Given the description of an element on the screen output the (x, y) to click on. 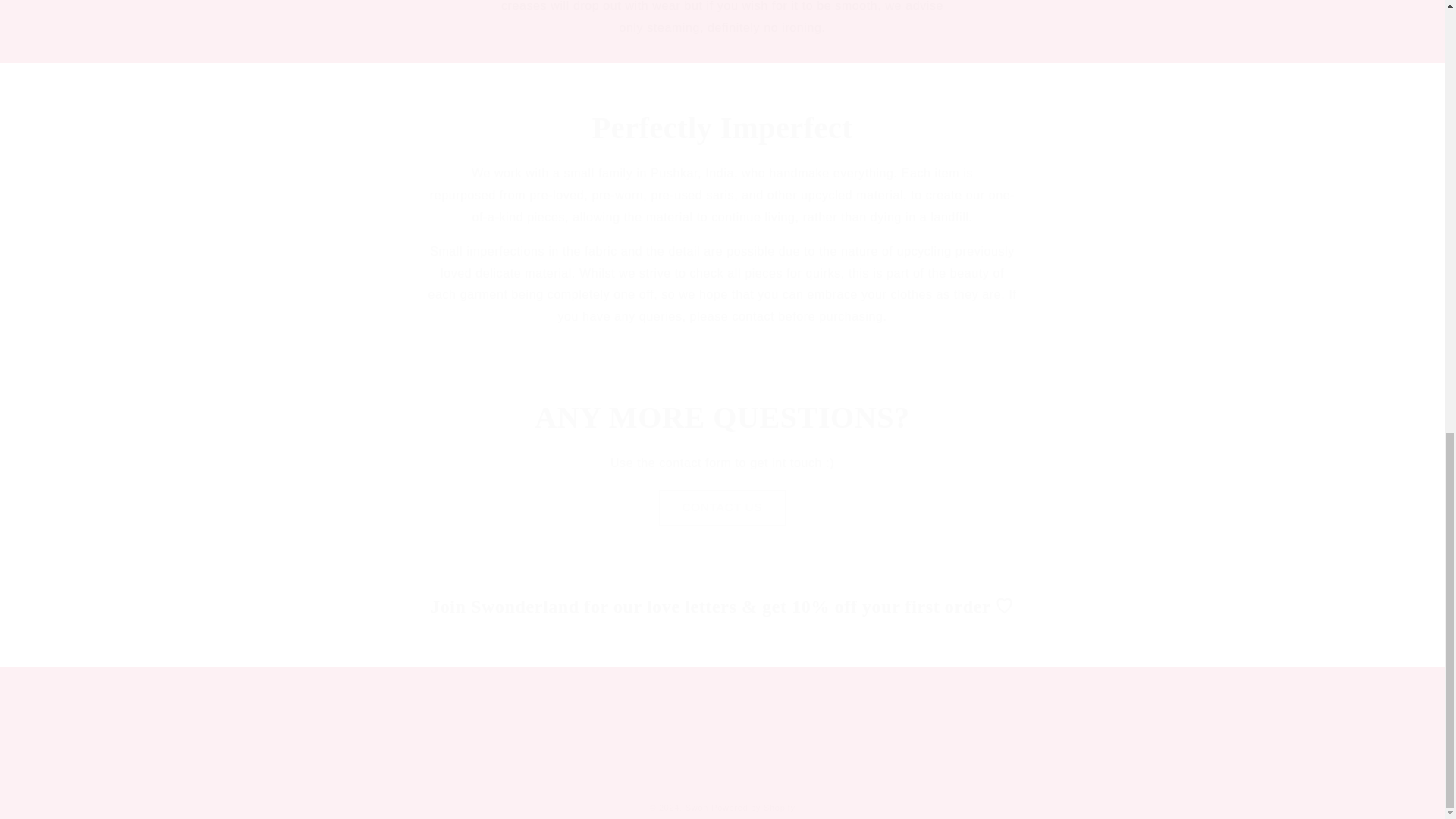
CONTACT US (721, 507)
CONTACT US (722, 507)
Perfectly Imperfect (721, 128)
Contact (923, 728)
Garment Info (854, 728)
Powered by Shopify (752, 807)
Swon (696, 807)
ANY MORE QUESTIONS? (721, 417)
